Given the description of an element on the screen output the (x, y) to click on. 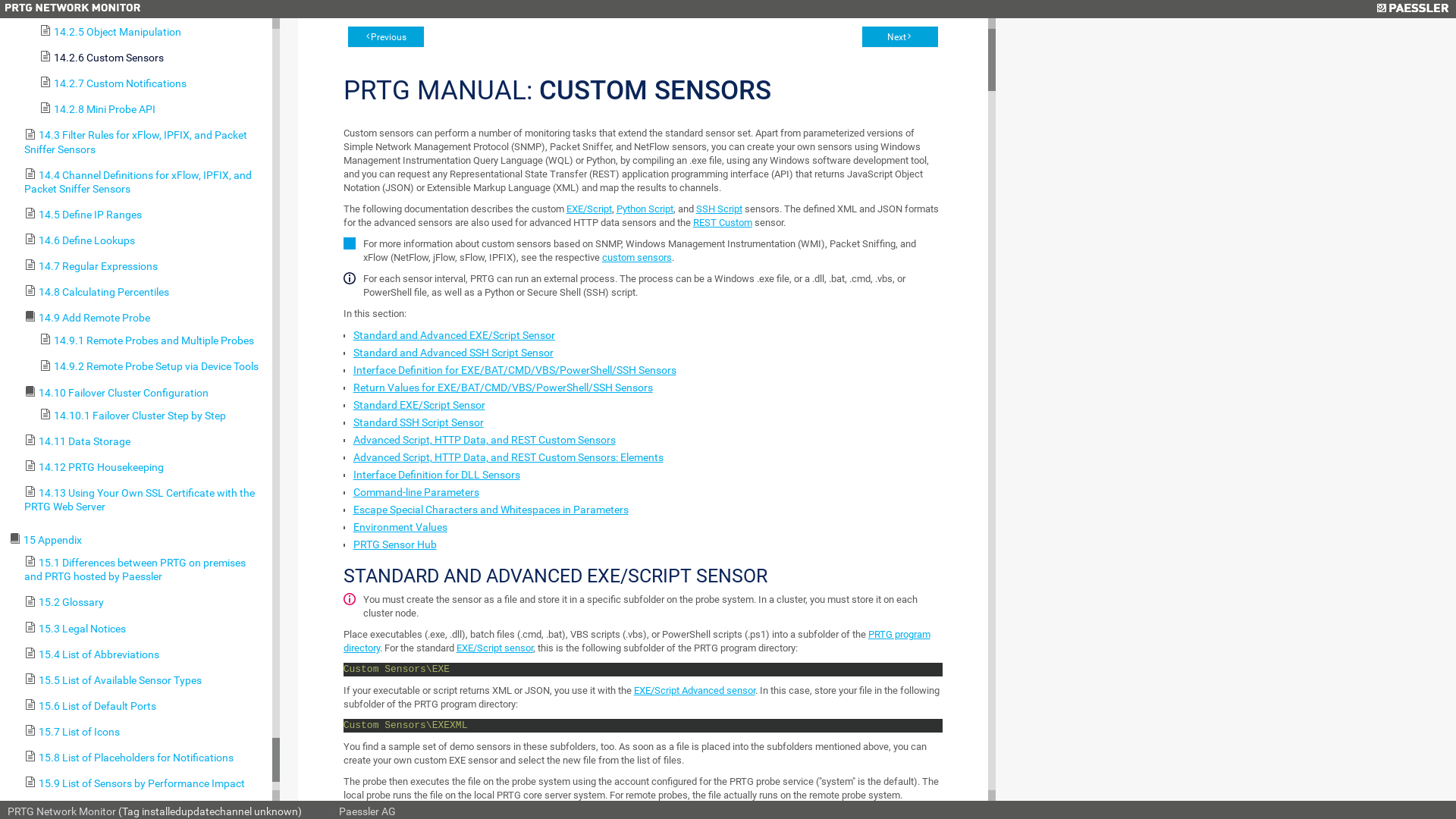
Standard and Advanced EXE/Script Sensor Element type: text (454, 335)
SSH Script Element type: text (719, 208)
PRTG program directory Element type: text (636, 640)
14.2.8 Mini Probe API Element type: text (104, 109)
15.8 List of Placeholders for Notifications Element type: text (135, 757)
15.3 Legal Notices Element type: text (143, 624)
Python Script Element type: text (644, 208)
14.7 Regular Expressions Element type: text (97, 266)
Next Element type: text (900, 36)
Previous Element type: text (385, 36)
Environment Values Element type: text (400, 526)
14.2.8 Mini Probe API Element type: text (151, 105)
REST Custom Element type: text (722, 222)
14.2.4 Historic Data Element type: text (100, 6)
Standard EXE/Script Sensor Element type: text (419, 404)
14.11 Data Storage Element type: text (84, 441)
14.10.1 Failover Cluster Step by Step Element type: text (151, 411)
14.8 Calculating Percentiles Element type: text (143, 287)
15.9 List of Sensors by Performance Impact Element type: text (141, 783)
Return Values for EXE/BAT/CMD/VBS/PowerShell/SSH Sensors Element type: text (502, 387)
PRTG Network Monitor Element type: text (61, 811)
15.8 List of Placeholders for Notifications Element type: text (143, 753)
Standard and Advanced SSH Script Sensor Element type: text (453, 352)
14.2.6 Custom Sensors Element type: text (108, 57)
15.10 List of Sensors in the Beta Status Element type: text (130, 809)
EXE/Script sensor Element type: text (494, 647)
14.12 PRTG Housekeeping Element type: text (143, 462)
Paessler AG - The Network Monitoring Company Element type: hover (1412, 9)
PRTG Sensor Hub Element type: text (394, 544)
Interface Definition for DLL Sensors Element type: text (436, 474)
14.2.7 Custom Notifications Element type: text (151, 79)
Advanced Script, HTTP Data, and REST Custom Sensors Element type: text (484, 439)
14.2.5 Object Manipulation Element type: text (151, 27)
15.5 List of Available Sensor Types Element type: text (119, 680)
15.2 Glossary Element type: text (70, 602)
14.2.7 Custom Notifications Element type: text (119, 83)
Paessler AG Element type: text (366, 811)
14.11 Data Storage Element type: text (143, 437)
14.9.2 Remote Probe Setup via Device Tools Element type: text (155, 366)
15.9 List of Sensors by Performance Impact Element type: text (143, 779)
15.6 List of Default Ports Element type: text (143, 701)
14.2.6 Custom Sensors Element type: text (151, 53)
15 Appendix Element type: text (52, 539)
14.9.1 Remote Probes and Multiple Probes Element type: text (151, 336)
Escape Special Characters and Whitespaces in Parameters Element type: text (490, 509)
15.10 List of Sensors in the Beta Status Element type: text (143, 804)
14.9.2 Remote Probe Setup via Device Tools Element type: text (151, 362)
15.7 List of Icons Element type: text (143, 727)
Standard SSH Script Sensor Element type: text (418, 422)
14.6 Define Lookups Element type: text (143, 236)
14.5 Define IP Ranges Element type: text (89, 214)
14.2.5 Object Manipulation Element type: text (117, 31)
15.4 List of Abbreviations Element type: text (98, 654)
15.6 List of Default Ports Element type: text (97, 705)
custom sensors Element type: text (636, 257)
14.9 Add Remote Probe Element type: text (94, 317)
14.10.1 Failover Cluster Step by Step Element type: text (139, 415)
14.9.1 Remote Probes and Multiple Probes Element type: text (153, 340)
14.6 Define Lookups Element type: text (86, 240)
14.10 Failover Cluster Configuration Element type: text (123, 392)
15.3 Legal Notices Element type: text (81, 628)
15.7 List of Icons Element type: text (78, 731)
EXE/Script Advanced sensor Element type: text (694, 690)
14.5 Define IP Ranges Element type: text (143, 210)
Command-line Parameters Element type: text (416, 492)
EXE/Script Element type: text (588, 208)
15.5 List of Available Sensor Types Element type: text (143, 676)
15.2 Glossary Element type: text (143, 597)
14.8 Calculating Percentiles Element type: text (103, 291)
14.12 PRTG Housekeeping Element type: text (100, 467)
15.4 List of Abbreviations Element type: text (143, 650)
14.7 Regular Expressions Element type: text (143, 262)
